Given the description of an element on the screen output the (x, y) to click on. 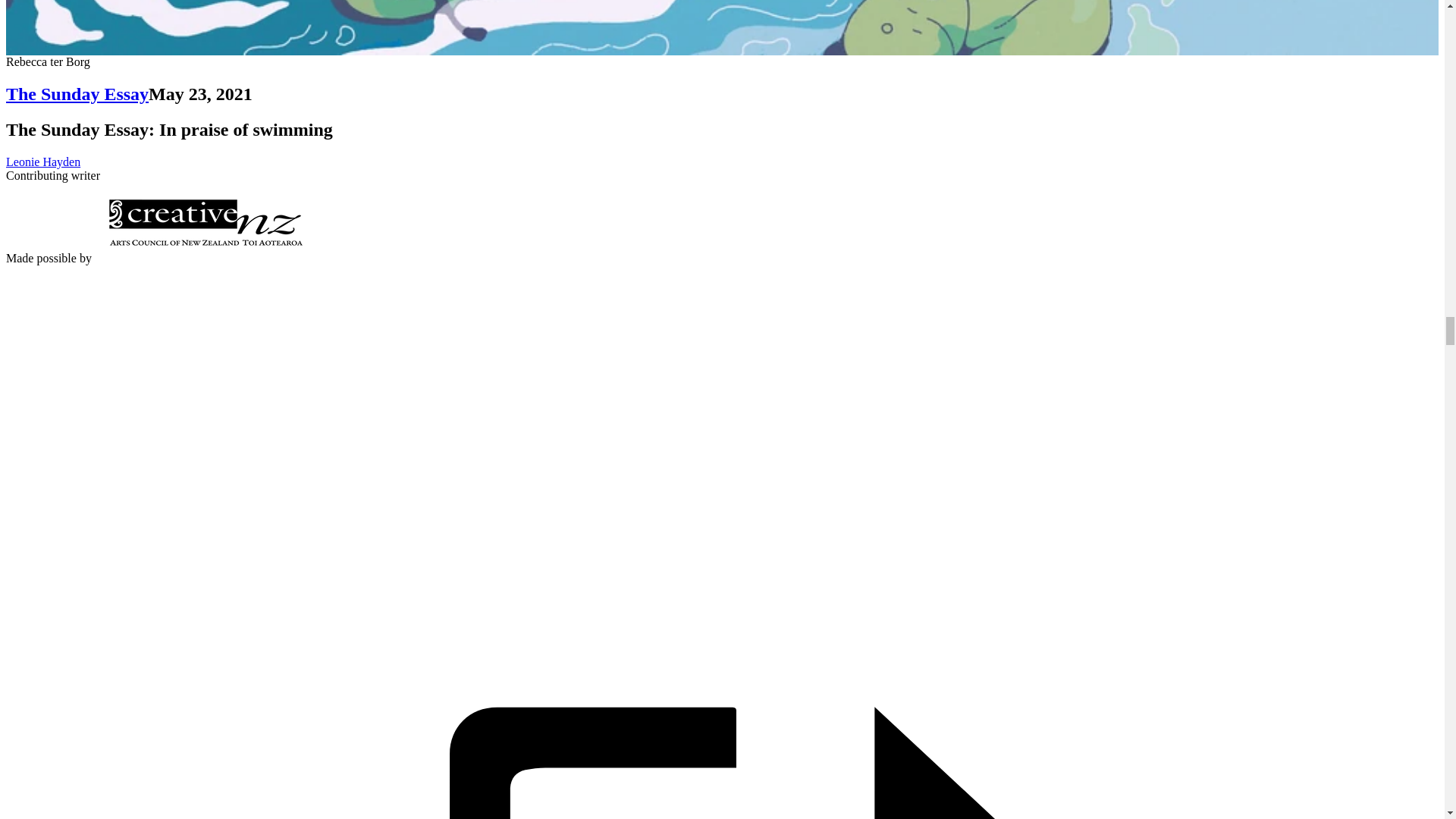
Leonie Hayden (42, 161)
view all posts by Leonie Hayden (42, 161)
The Sunday Essay (76, 94)
